Given the description of an element on the screen output the (x, y) to click on. 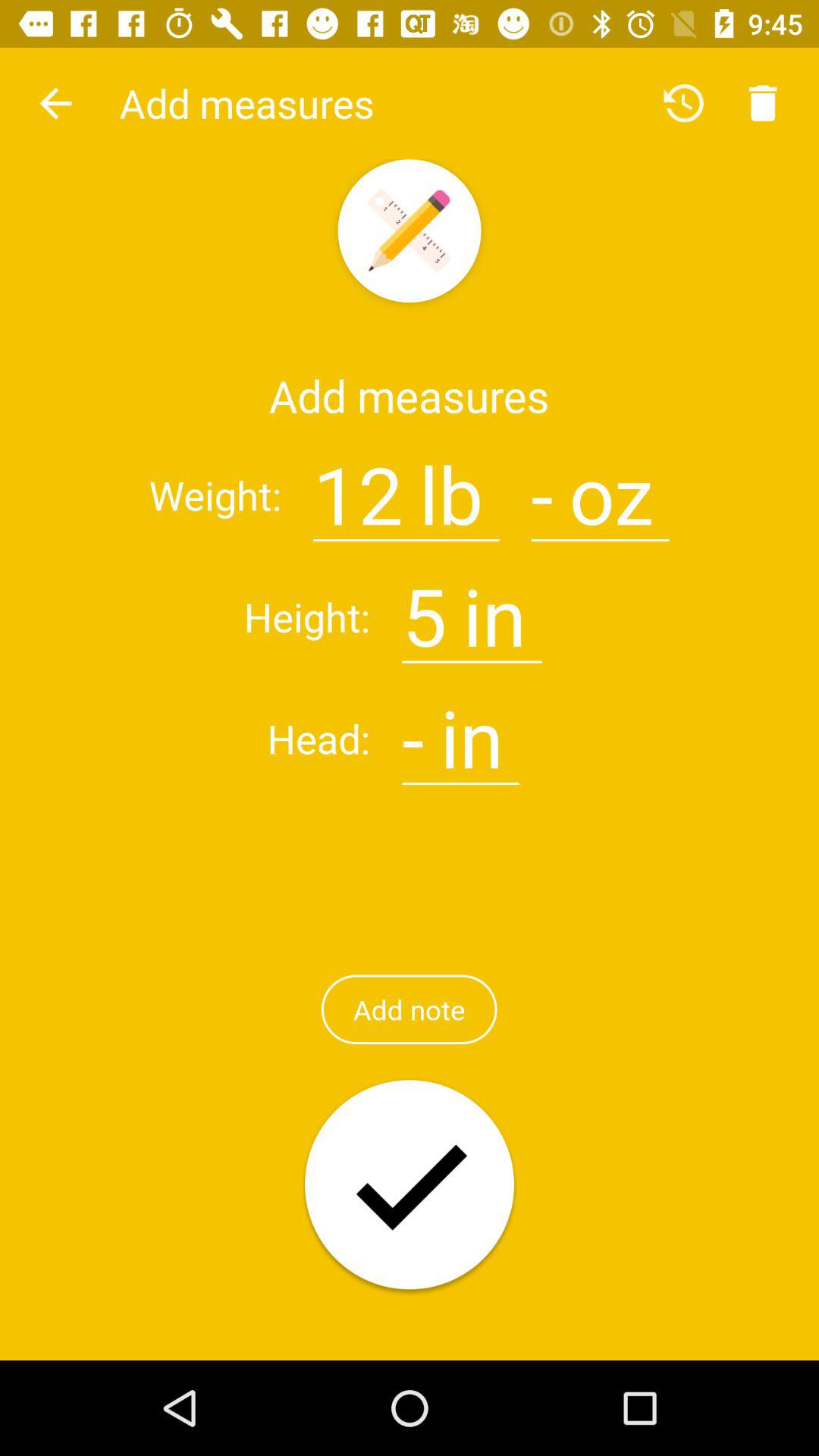
flip until the 12 (358, 485)
